Given the description of an element on the screen output the (x, y) to click on. 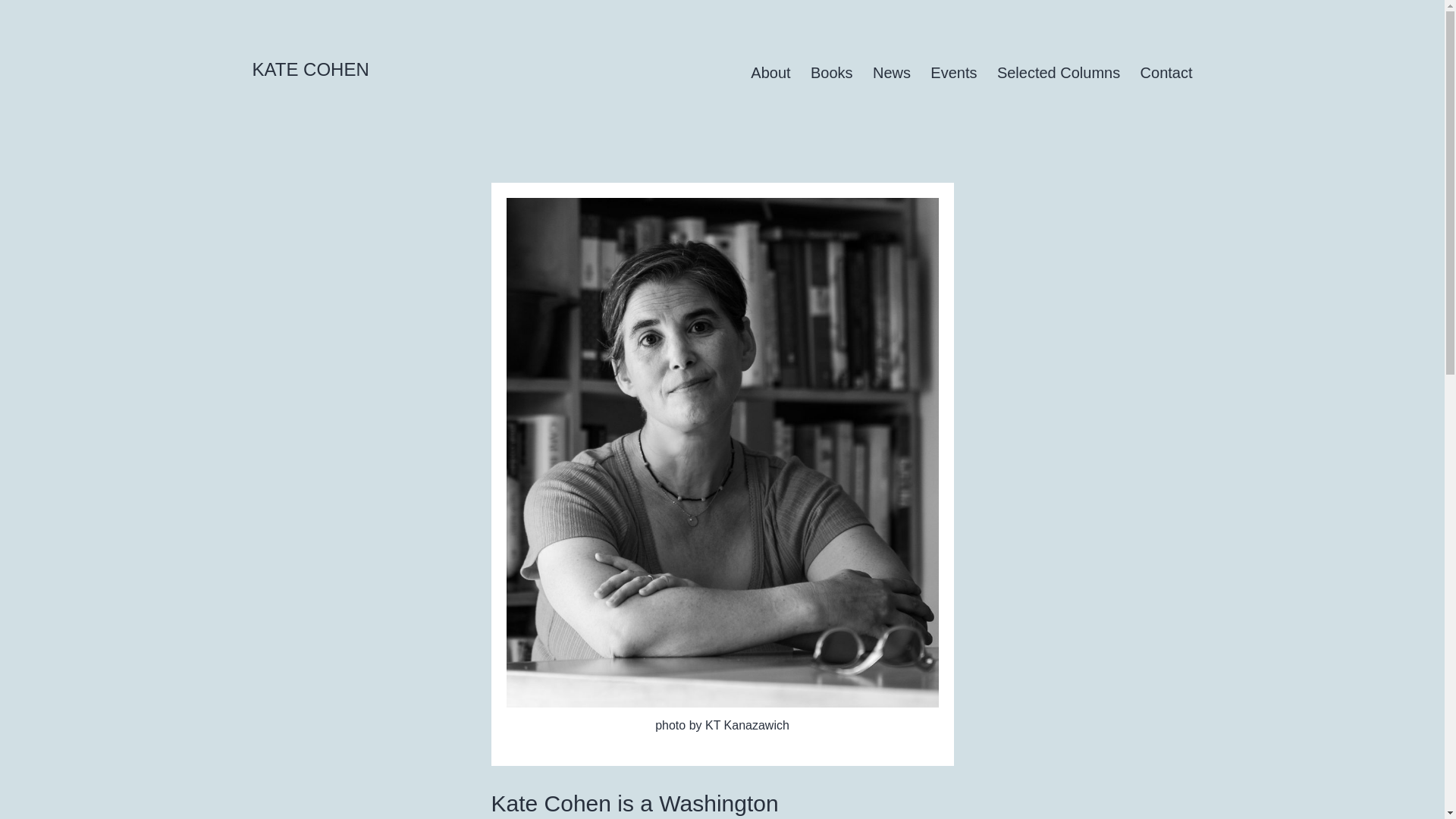
News (891, 72)
Selected Columns (1059, 72)
Contact (1165, 72)
Books (831, 72)
About (770, 72)
Events (953, 72)
